Given the description of an element on the screen output the (x, y) to click on. 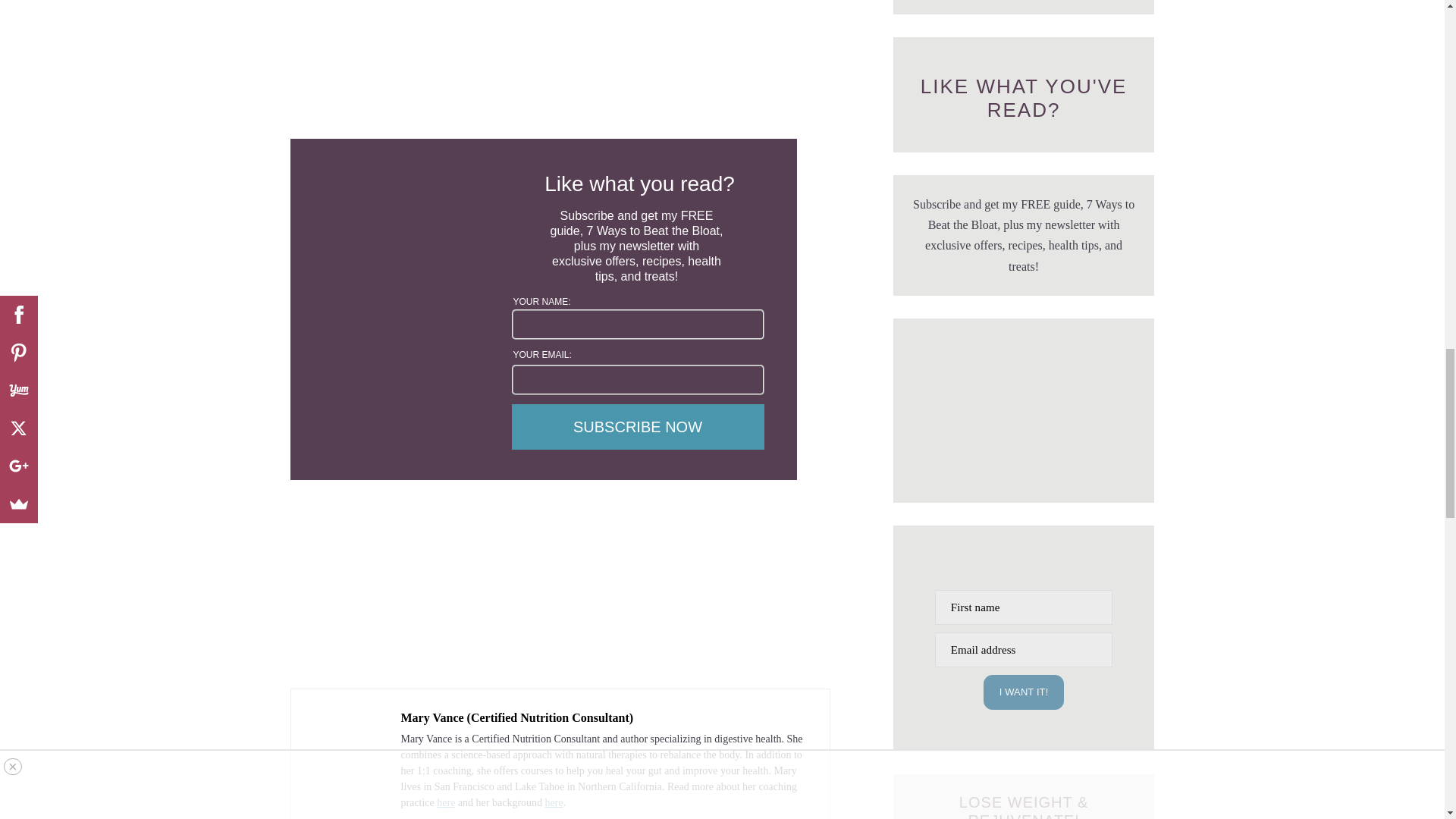
here (553, 802)
here (445, 802)
SUBSCRIBE NOW (636, 426)
SUBSCRIBE NOW (636, 426)
